Given the description of an element on the screen output the (x, y) to click on. 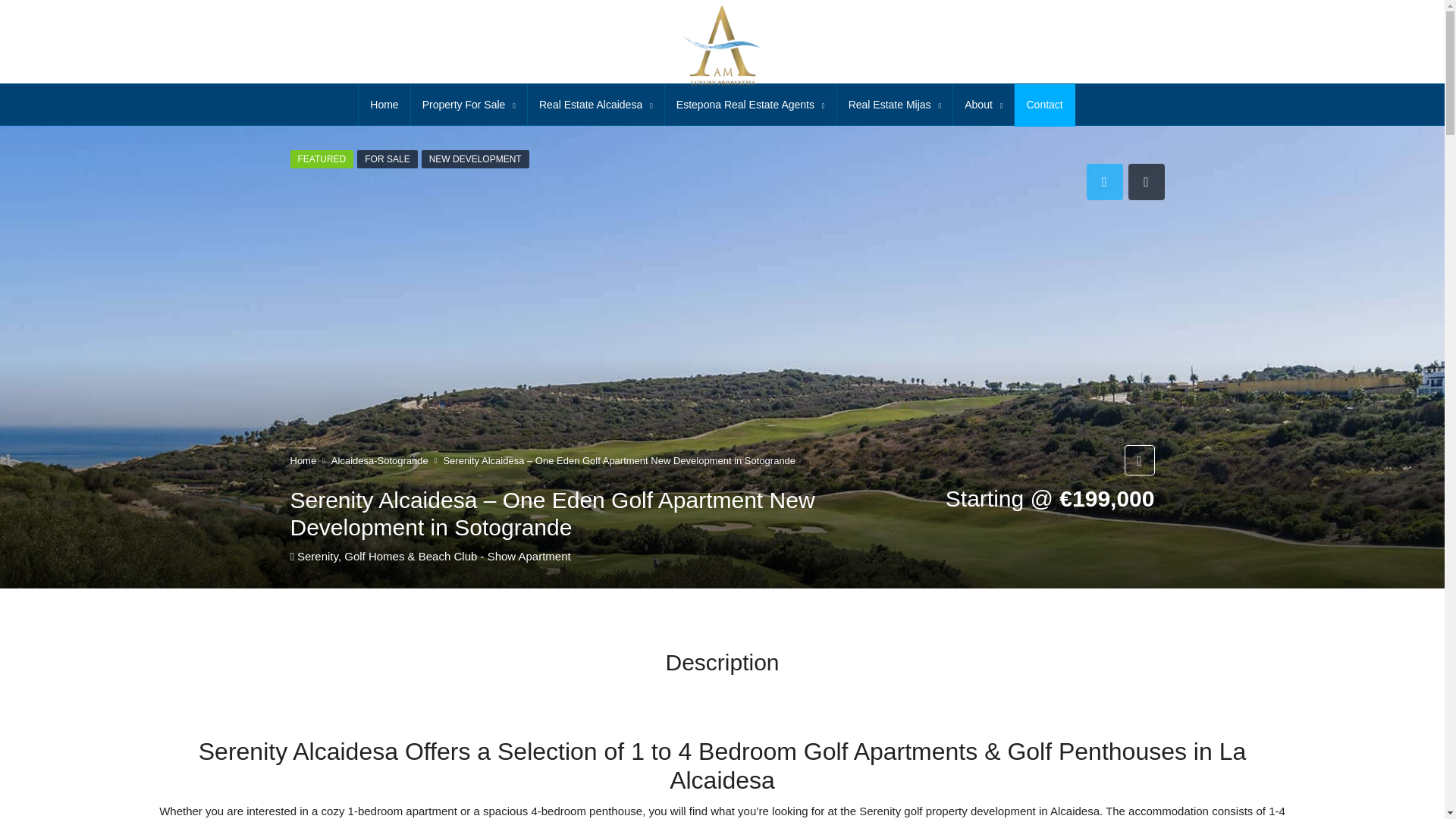
Estepona Real Estate Agents (750, 105)
Real Estate Mijas (895, 105)
Real Estate Alcaidesa (595, 105)
Home (383, 104)
Property For Sale (468, 105)
